Given the description of an element on the screen output the (x, y) to click on. 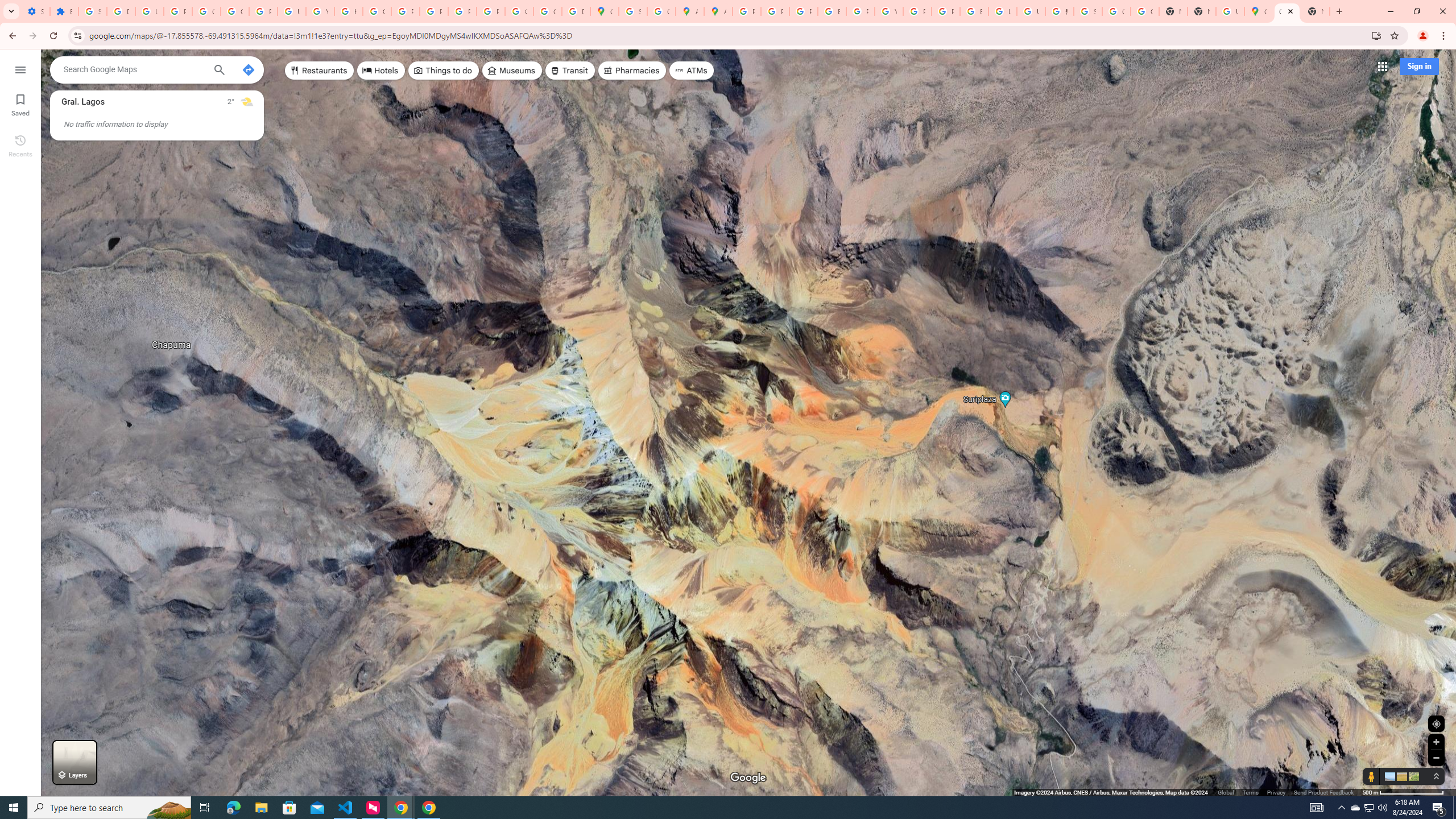
Saved (20, 104)
Mostly cloudy (246, 101)
Layers (74, 762)
Sign in - Google Accounts (632, 11)
Show imagery (1412, 776)
Museums (511, 70)
Hotels (381, 70)
